Given the description of an element on the screen output the (x, y) to click on. 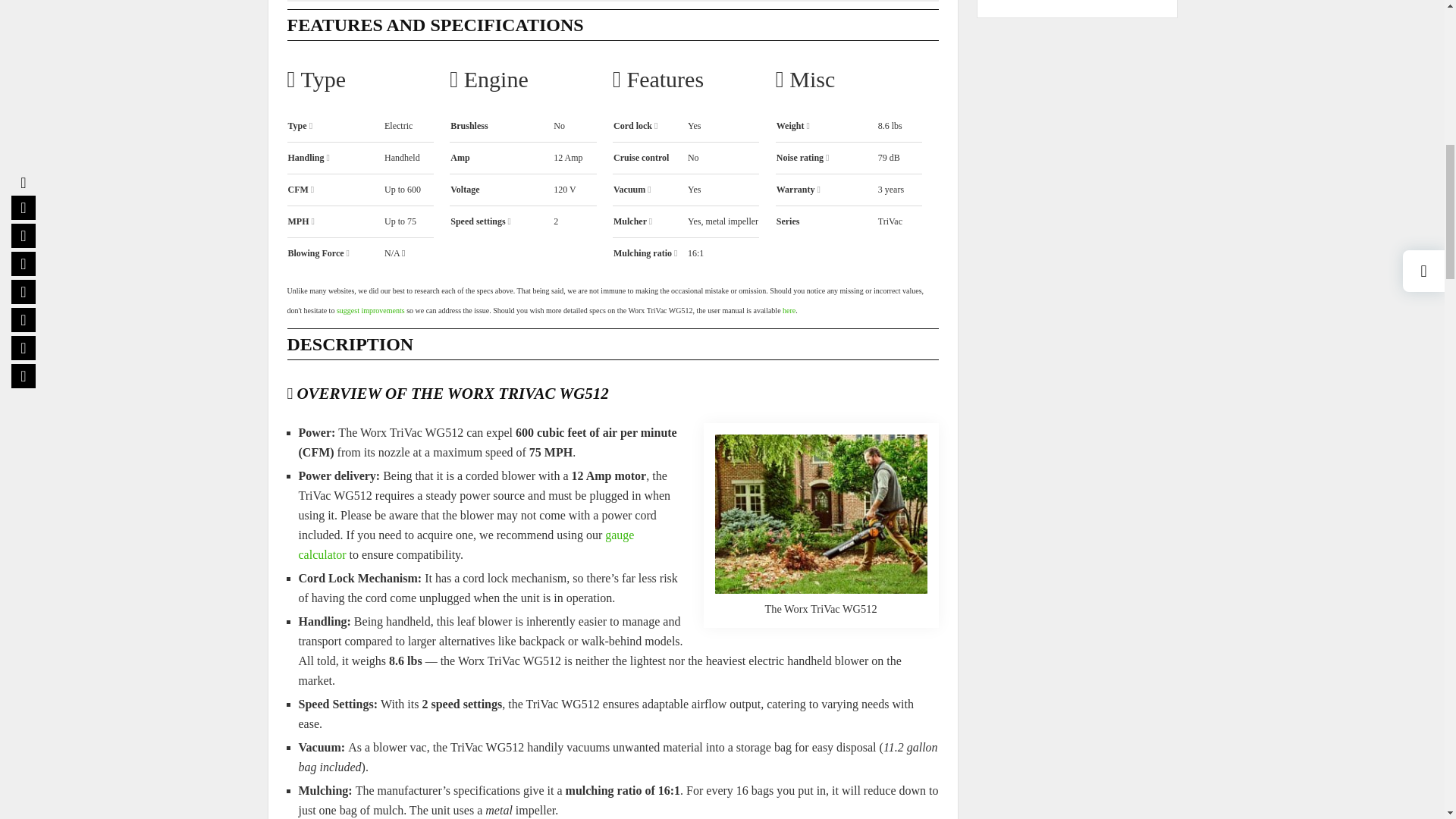
Click to open the user manual in a new tab (788, 310)
Click to open the gauge calculator in a popup layer (466, 544)
Click to open the spec improvement form in a popup layer (370, 310)
